Given the description of an element on the screen output the (x, y) to click on. 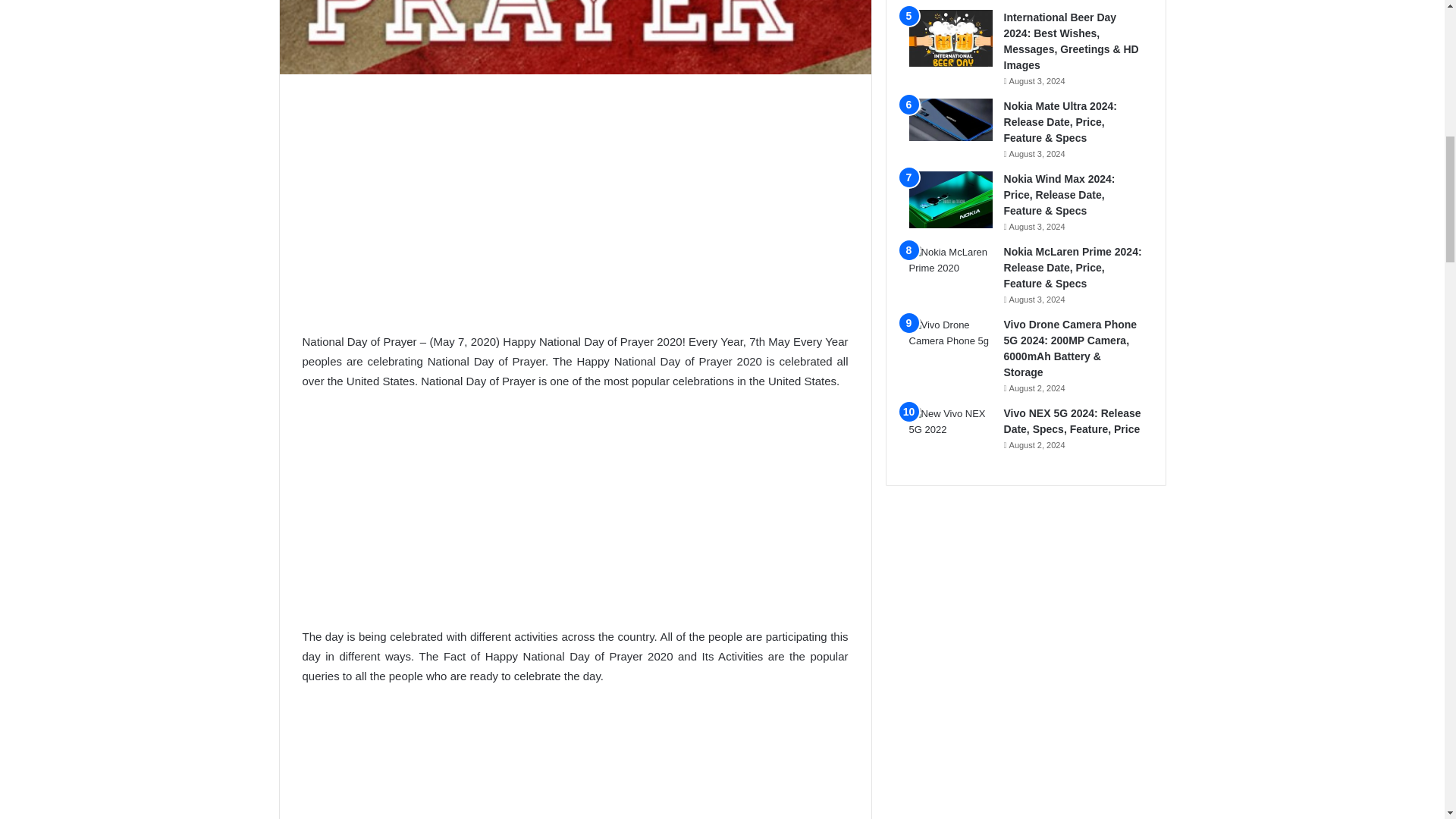
Advertisement (574, 516)
Advertisement (574, 203)
Advertisement (574, 762)
